Given the description of an element on the screen output the (x, y) to click on. 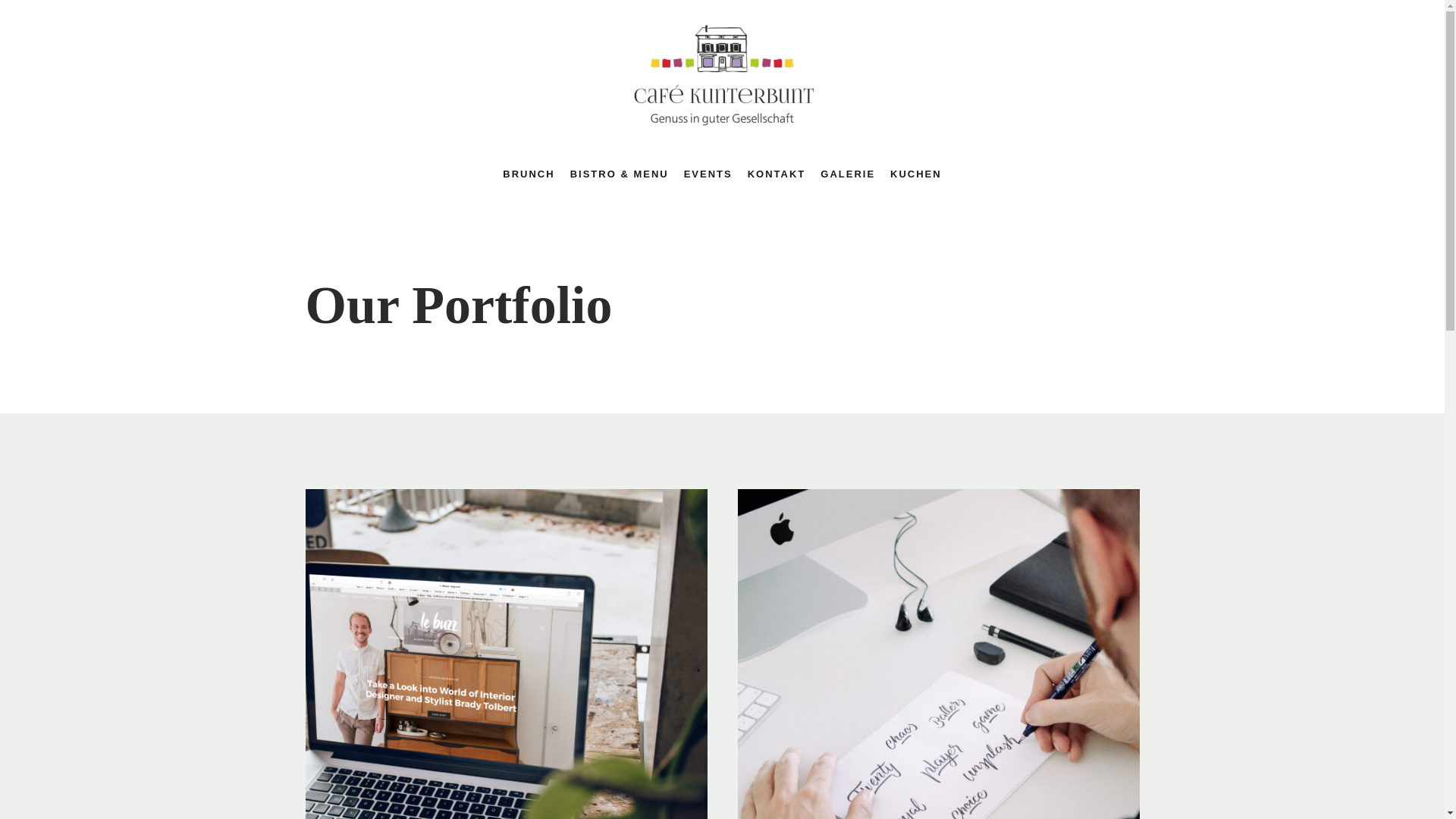
BISTRO & MENU Element type: text (619, 174)
Zum Inhalt Element type: text (15, 7)
BRUNCH Element type: text (528, 174)
GALERIE Element type: text (847, 174)
KONTAKT Element type: text (776, 174)
EVENTS Element type: text (708, 174)
KUCHEN Element type: text (915, 174)
